Given the description of an element on the screen output the (x, y) to click on. 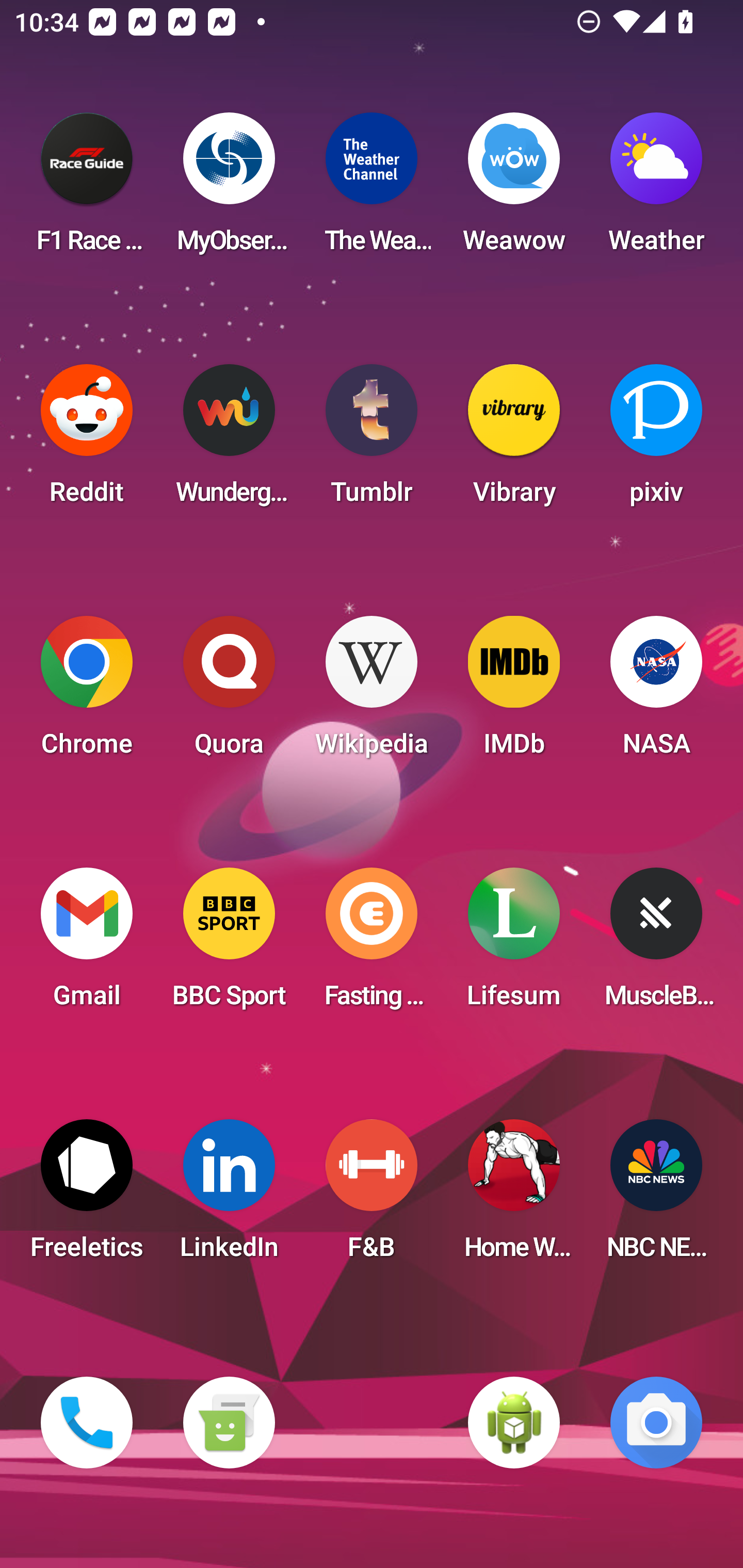
F1 Race Guide (86, 188)
MyObservatory (228, 188)
The Weather Channel (371, 188)
Weawow (513, 188)
Weather (656, 188)
Reddit (86, 440)
Wunderground (228, 440)
Tumblr (371, 440)
Vibrary (513, 440)
pixiv (656, 440)
Chrome (86, 692)
Quora (228, 692)
Wikipedia (371, 692)
IMDb (513, 692)
NASA (656, 692)
Gmail (86, 943)
BBC Sport (228, 943)
Fasting Coach (371, 943)
Lifesum (513, 943)
MuscleBooster (656, 943)
Freeletics (86, 1195)
LinkedIn (228, 1195)
F&B (371, 1195)
Home Workout (513, 1195)
NBC NEWS (656, 1195)
Phone (86, 1422)
Messaging (228, 1422)
WebView Browser Tester (513, 1422)
Camera (656, 1422)
